Given the description of an element on the screen output the (x, y) to click on. 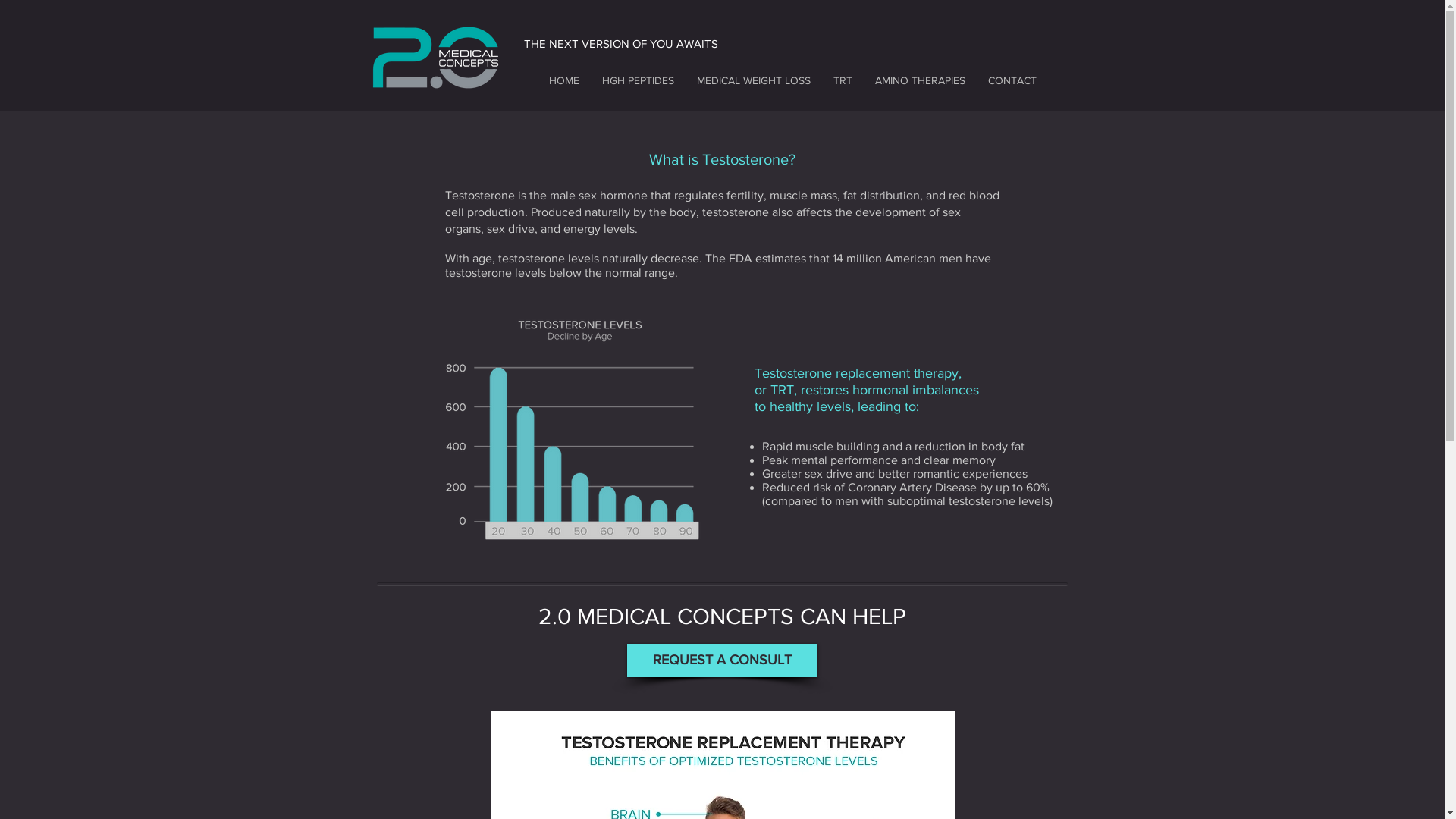
HOME Element type: text (562, 80)
CONTACT Element type: text (1012, 80)
REQUEST A CONSULT Element type: text (721, 660)
MEDICAL WEIGHT LOSS Element type: text (753, 80)
AMINO THERAPIES Element type: text (918, 80)
TRT Element type: text (842, 80)
HGH PEPTIDES Element type: text (636, 80)
